Given the description of an element on the screen output the (x, y) to click on. 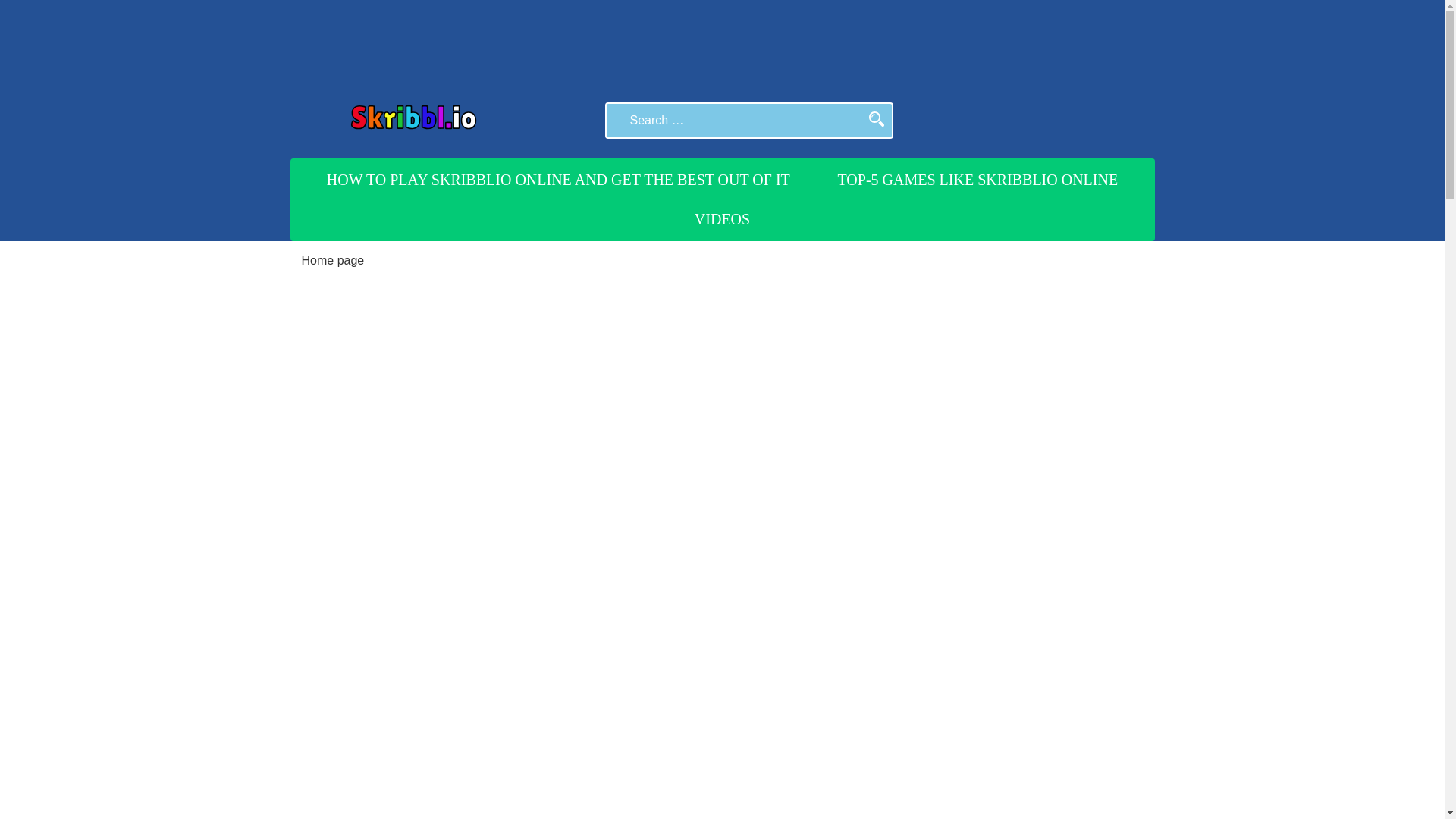
VIDEOS (721, 219)
HOW TO PLAY SKRIBBLIO ONLINE AND GET THE BEST OUT OF IT (558, 179)
TOP-5 GAMES LIKE SKRIBBLIO ONLINE (978, 179)
Home page (333, 259)
